Given the description of an element on the screen output the (x, y) to click on. 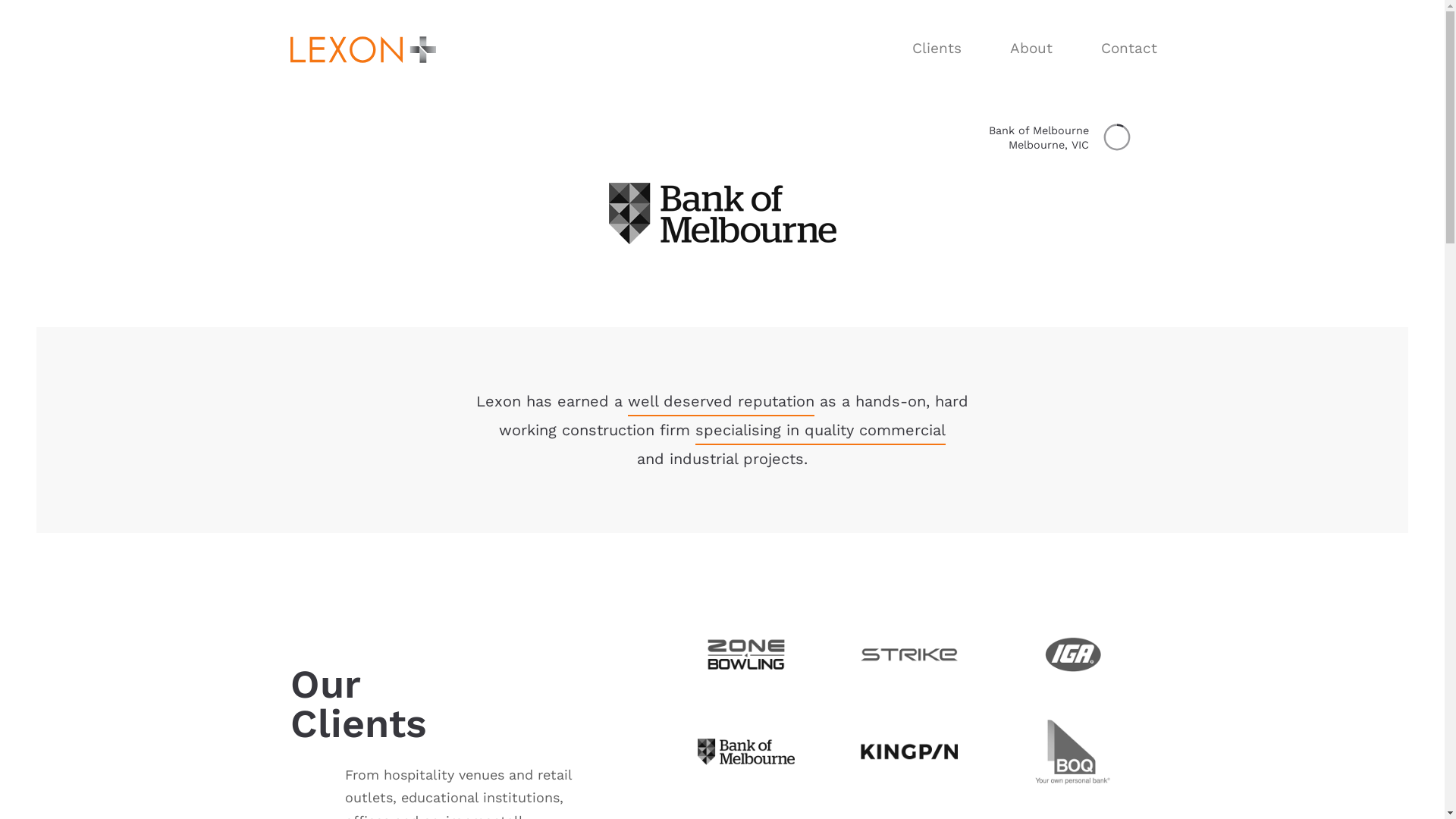
Clients Element type: text (935, 47)
About Element type: text (1031, 47)
Contact Element type: text (1129, 47)
